Given the description of an element on the screen output the (x, y) to click on. 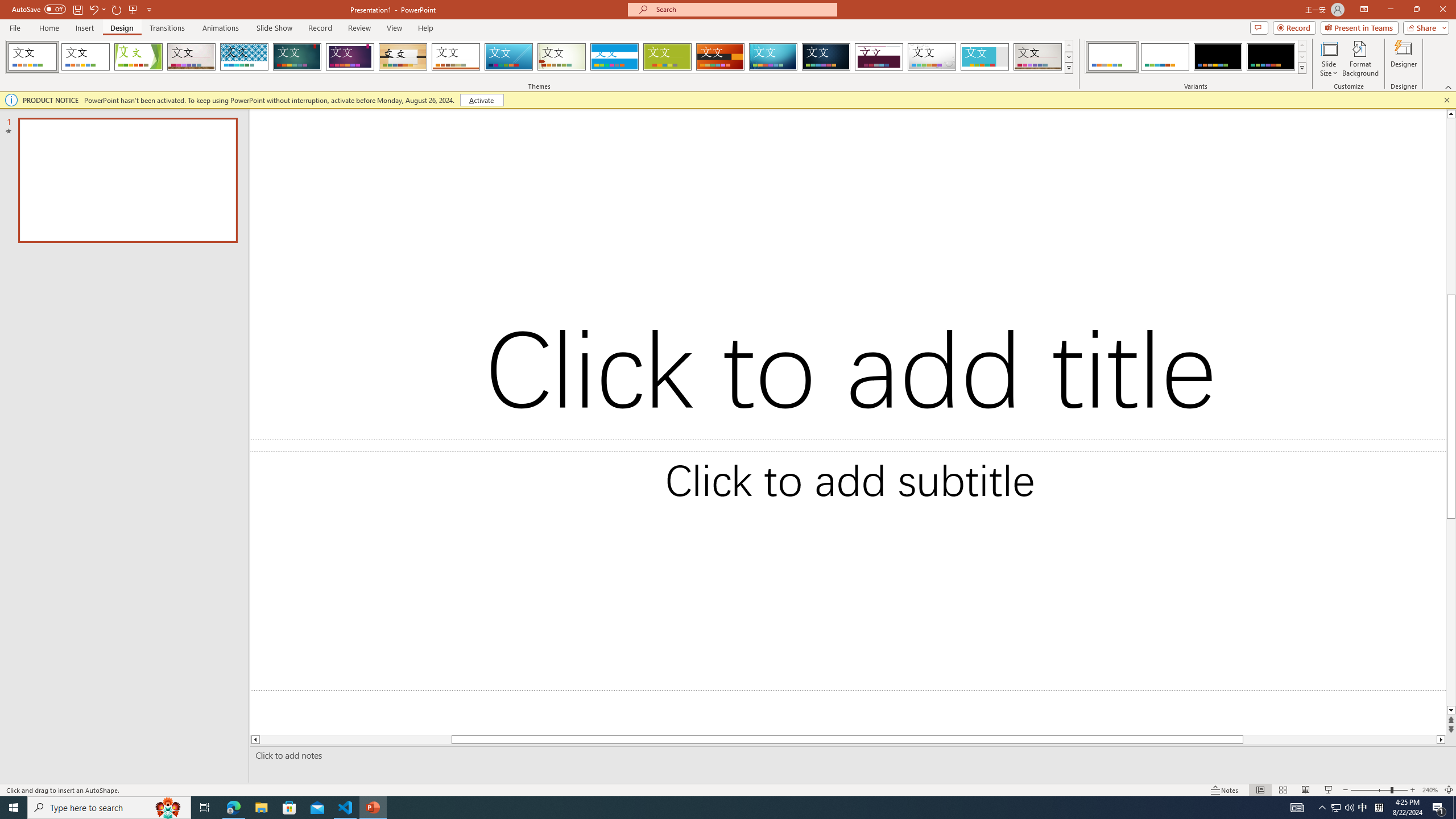
Close this message (1446, 99)
Berlin (720, 56)
